Given the description of an element on the screen output the (x, y) to click on. 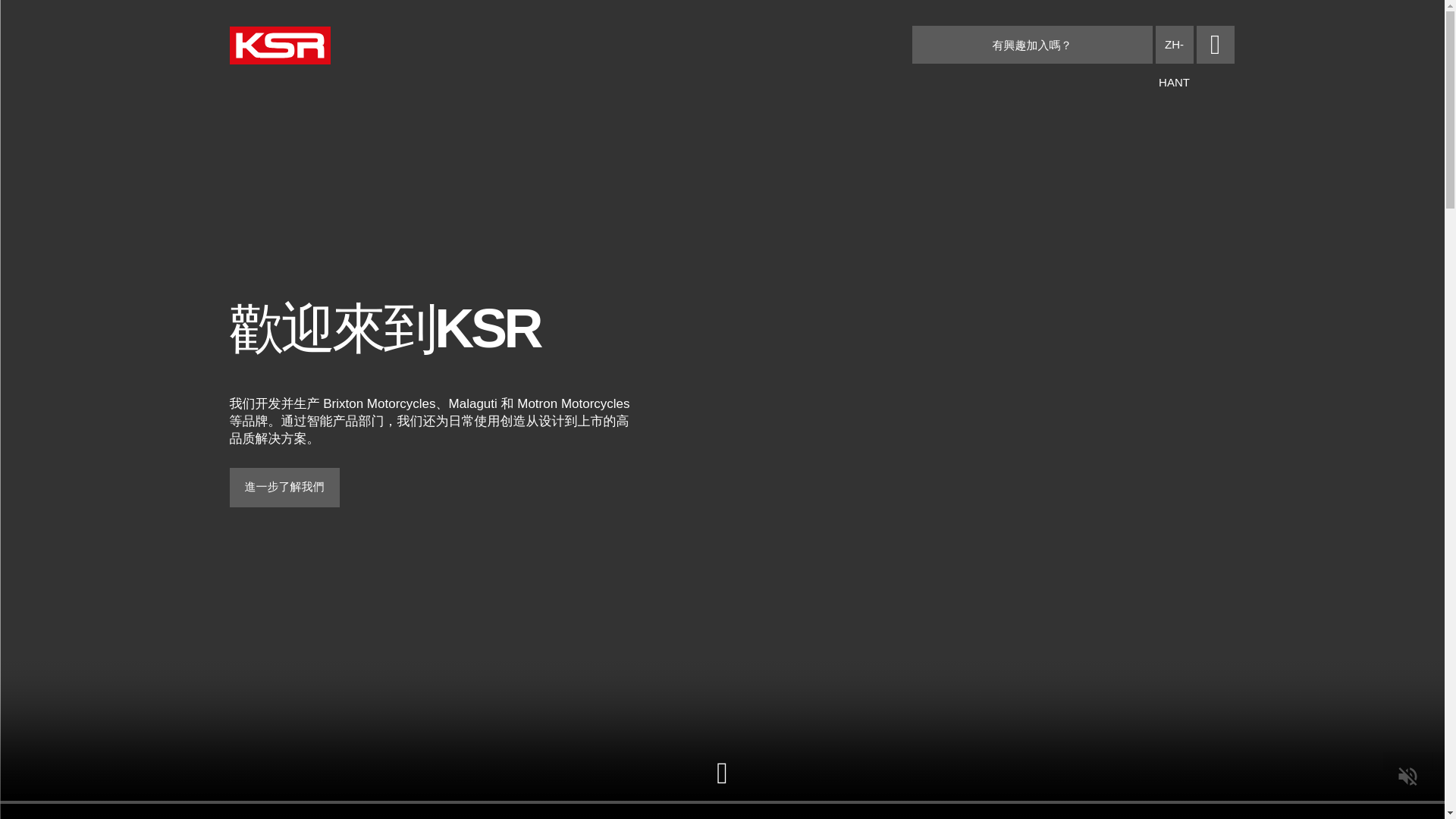
KSR Group (279, 46)
